Given the description of an element on the screen output the (x, y) to click on. 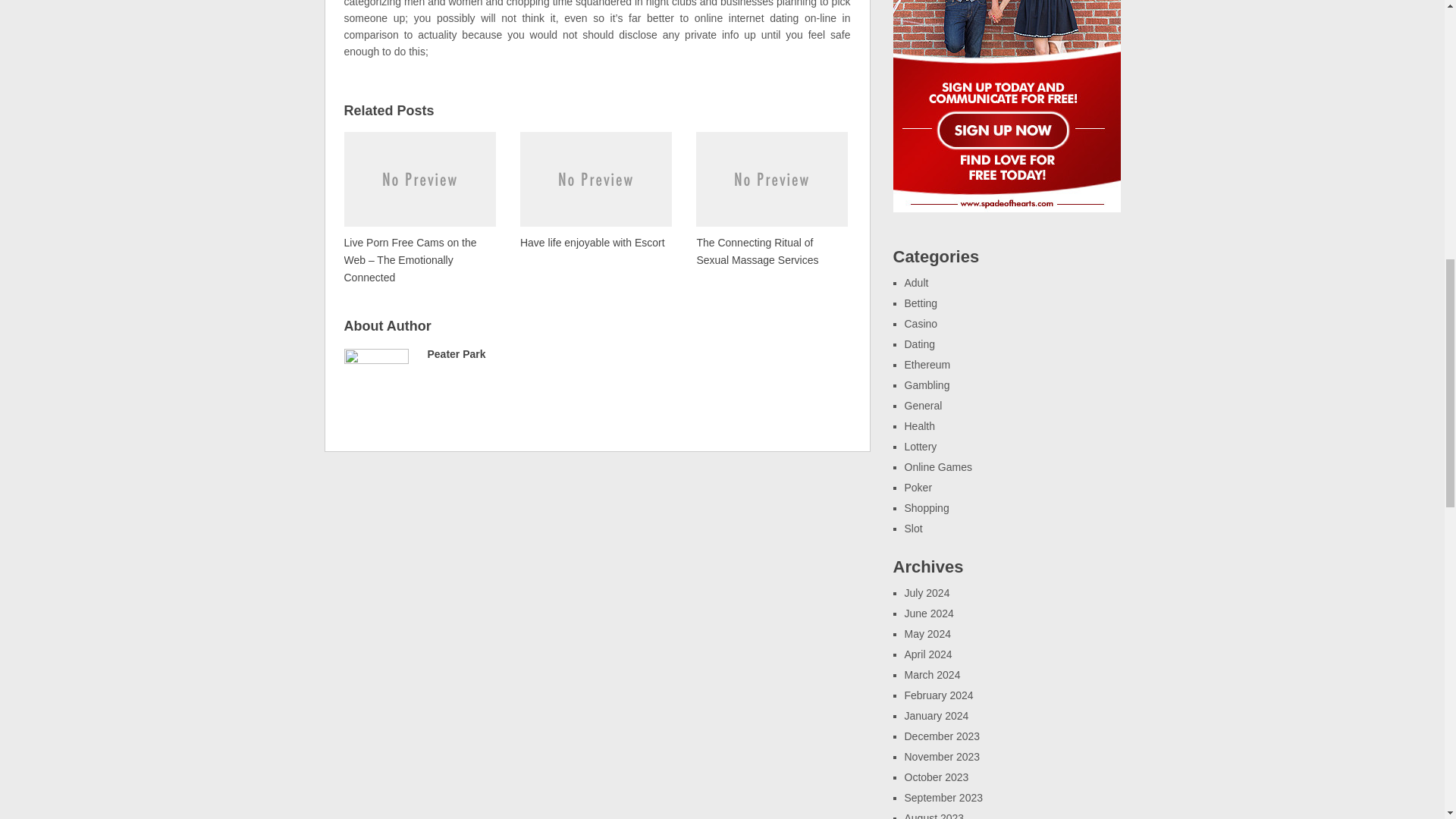
The Connecting Ritual of Sexual Massage Services (771, 198)
Casino (920, 323)
Betting (920, 303)
Dating (919, 344)
Adult (916, 282)
Gambling (926, 385)
The Connecting Ritual of Sexual Massage Services (771, 198)
Ethereum (927, 364)
Have life enjoyable with Escort (595, 189)
General (923, 405)
Have life enjoyable with Escort (595, 189)
